Given the description of an element on the screen output the (x, y) to click on. 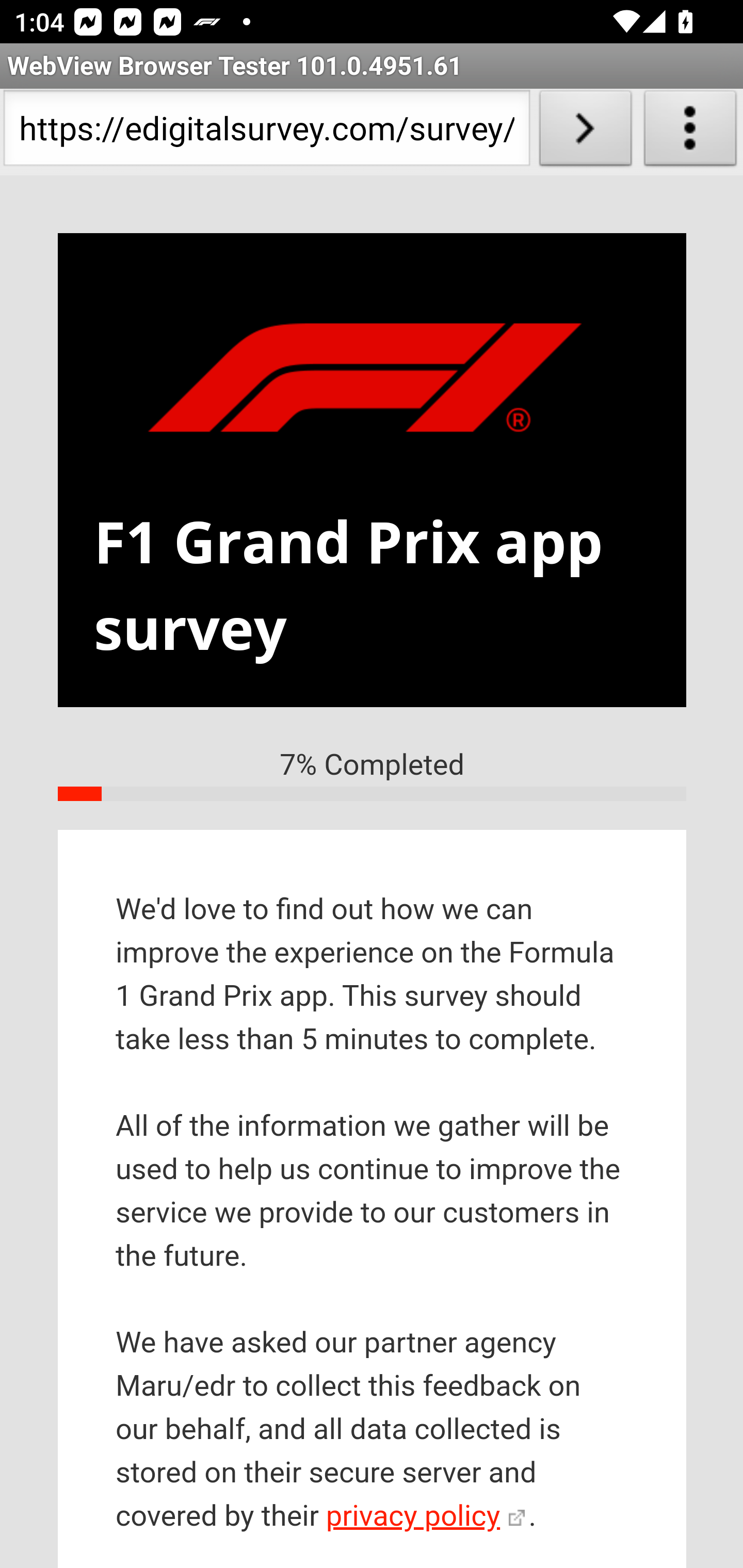
Load URL (585, 132)
About WebView (690, 132)
privacy policy  privacy policy    (425, 1517)
